Given the description of an element on the screen output the (x, y) to click on. 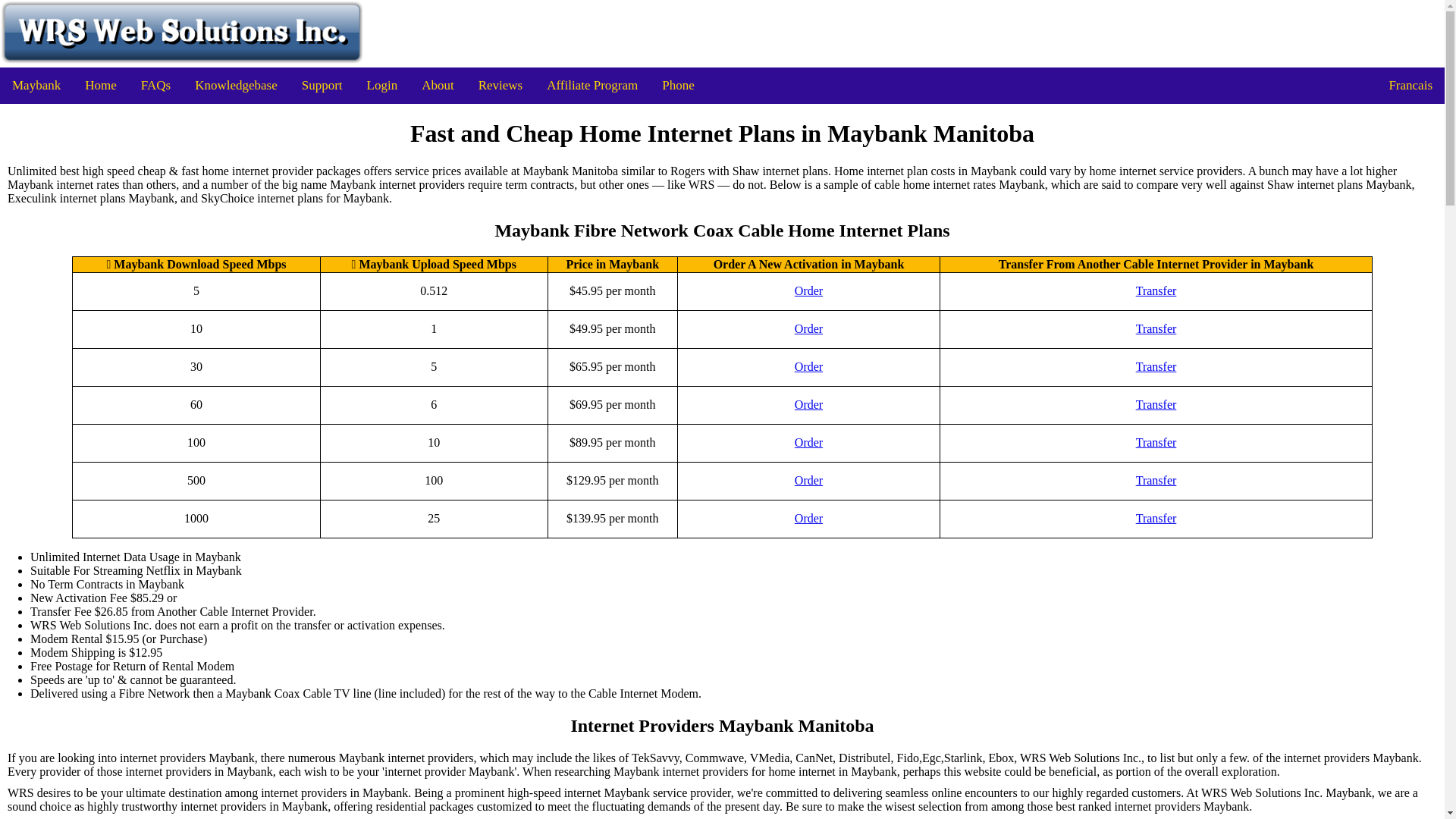
Transfer (1155, 442)
Transfer (1155, 291)
Transfer (1155, 328)
FAQs (156, 85)
Maybank (36, 85)
Order (808, 404)
Affiliate Program (591, 85)
Order (808, 291)
Order (808, 518)
Transfer (1155, 518)
